Given the description of an element on the screen output the (x, y) to click on. 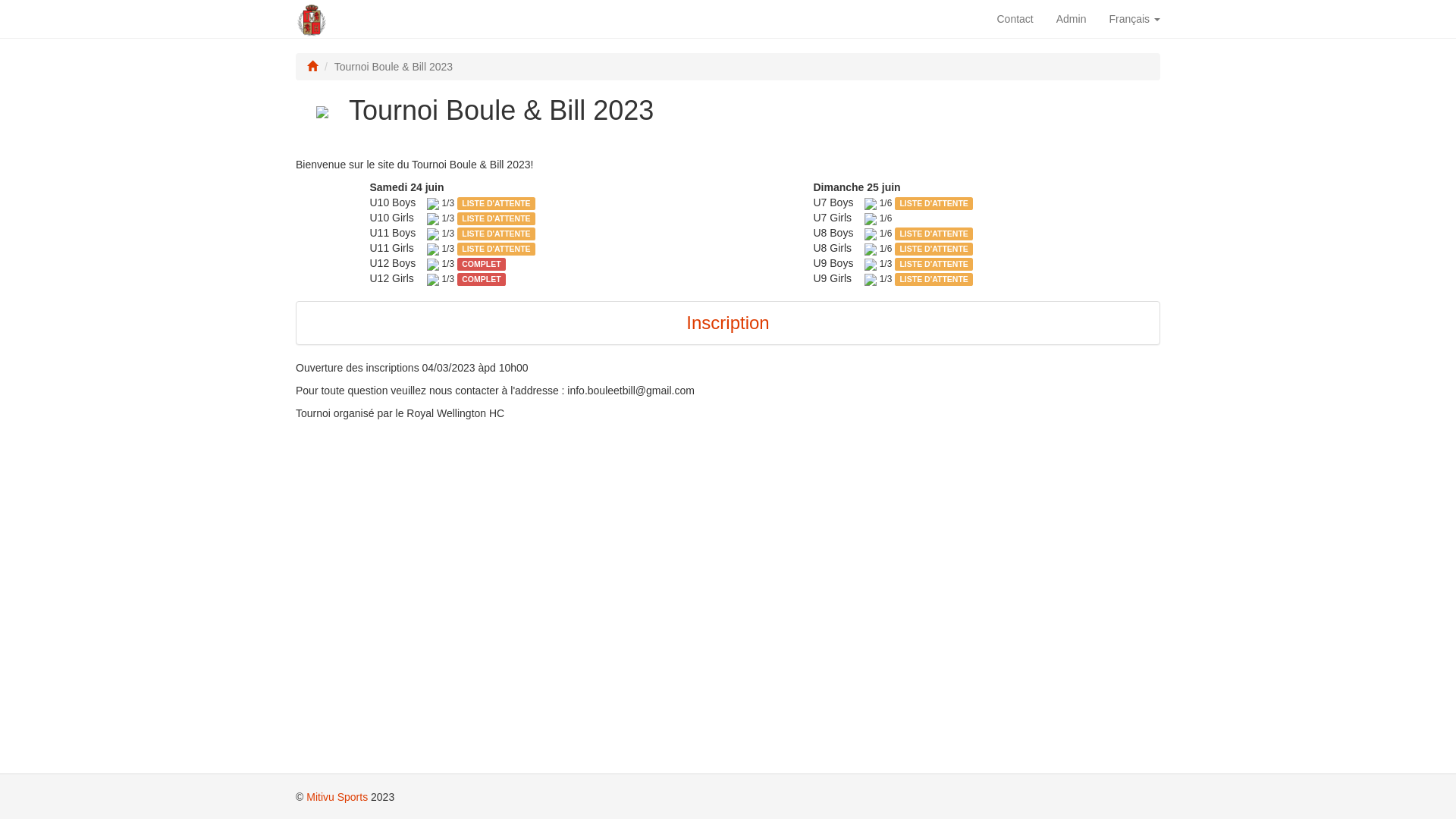
Mitivu Sports Element type: text (336, 796)
Contact Element type: text (1014, 18)
Admin Element type: text (1071, 18)
Inscription Element type: text (727, 322)
